Given the description of an element on the screen output the (x, y) to click on. 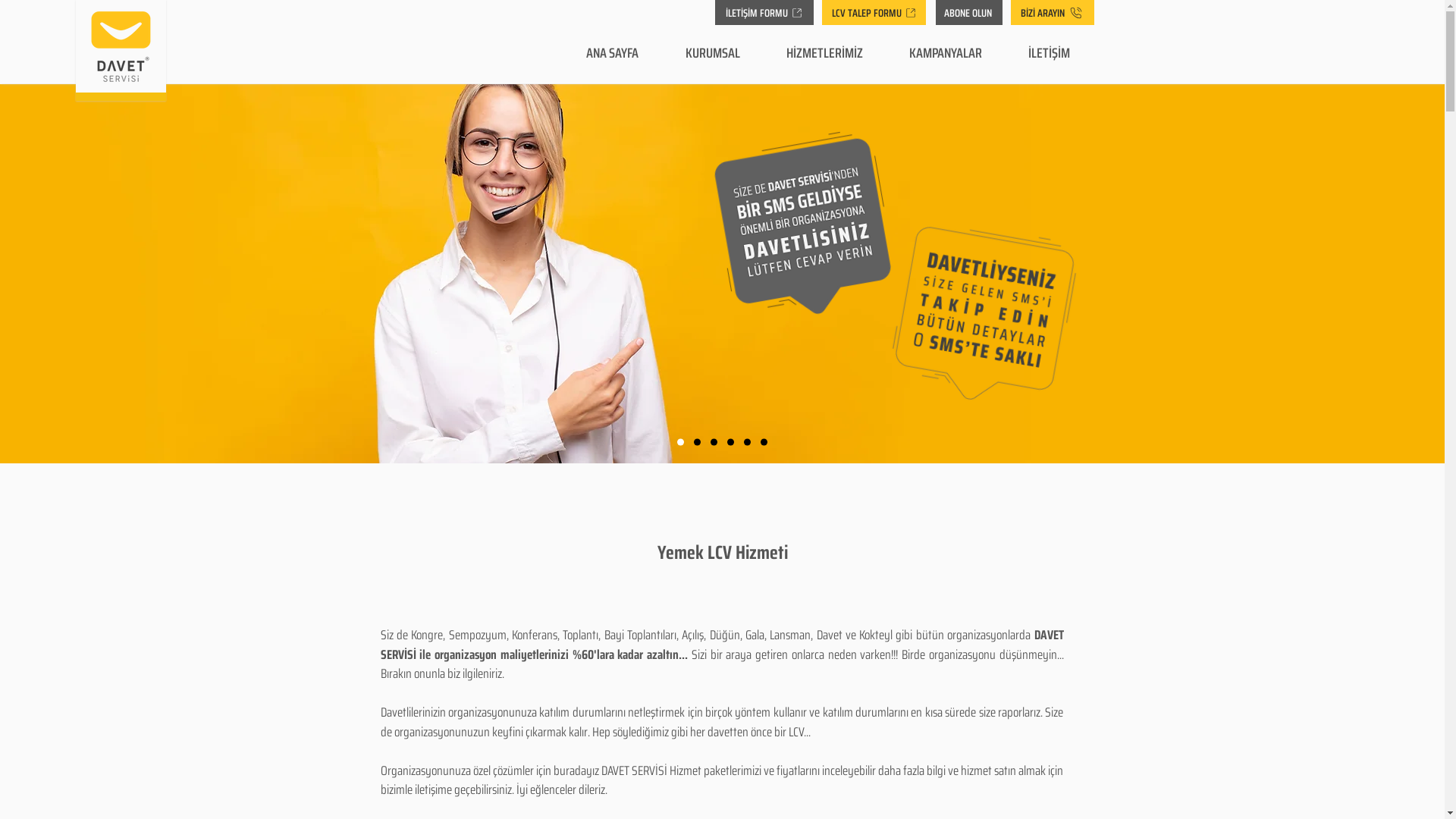
ABONE OLUN Element type: text (968, 12)
LCV TALEP FORMU Element type: text (873, 12)
KAMPANYALAR Element type: text (944, 53)
ANA SAYFA Element type: text (612, 53)
